Given the description of an element on the screen output the (x, y) to click on. 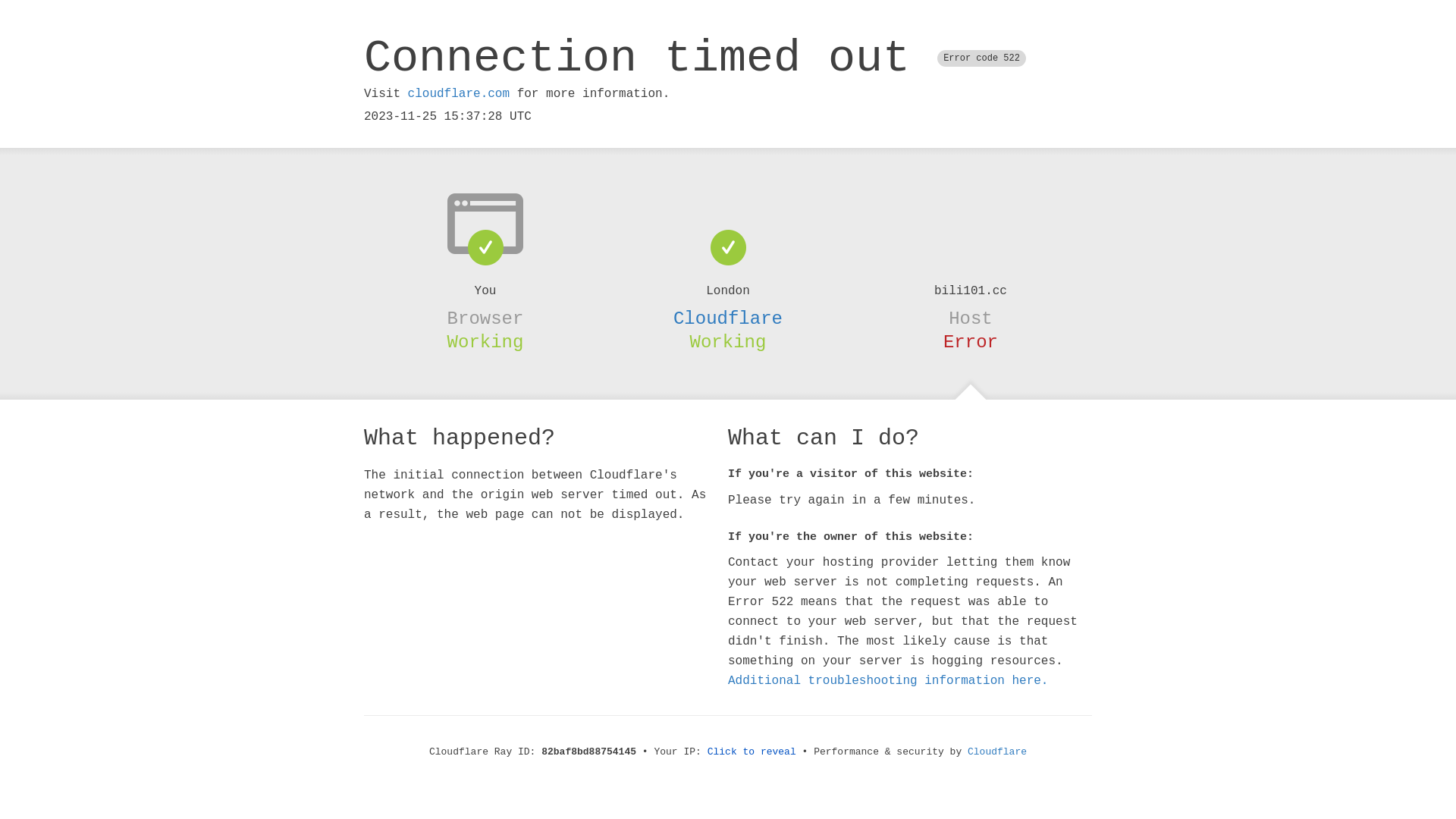
Additional troubleshooting information here. Element type: text (888, 680)
Click to reveal Element type: text (751, 751)
Cloudflare Element type: text (996, 751)
cloudflare.com Element type: text (458, 93)
Cloudflare Element type: text (727, 318)
